Given the description of an element on the screen output the (x, y) to click on. 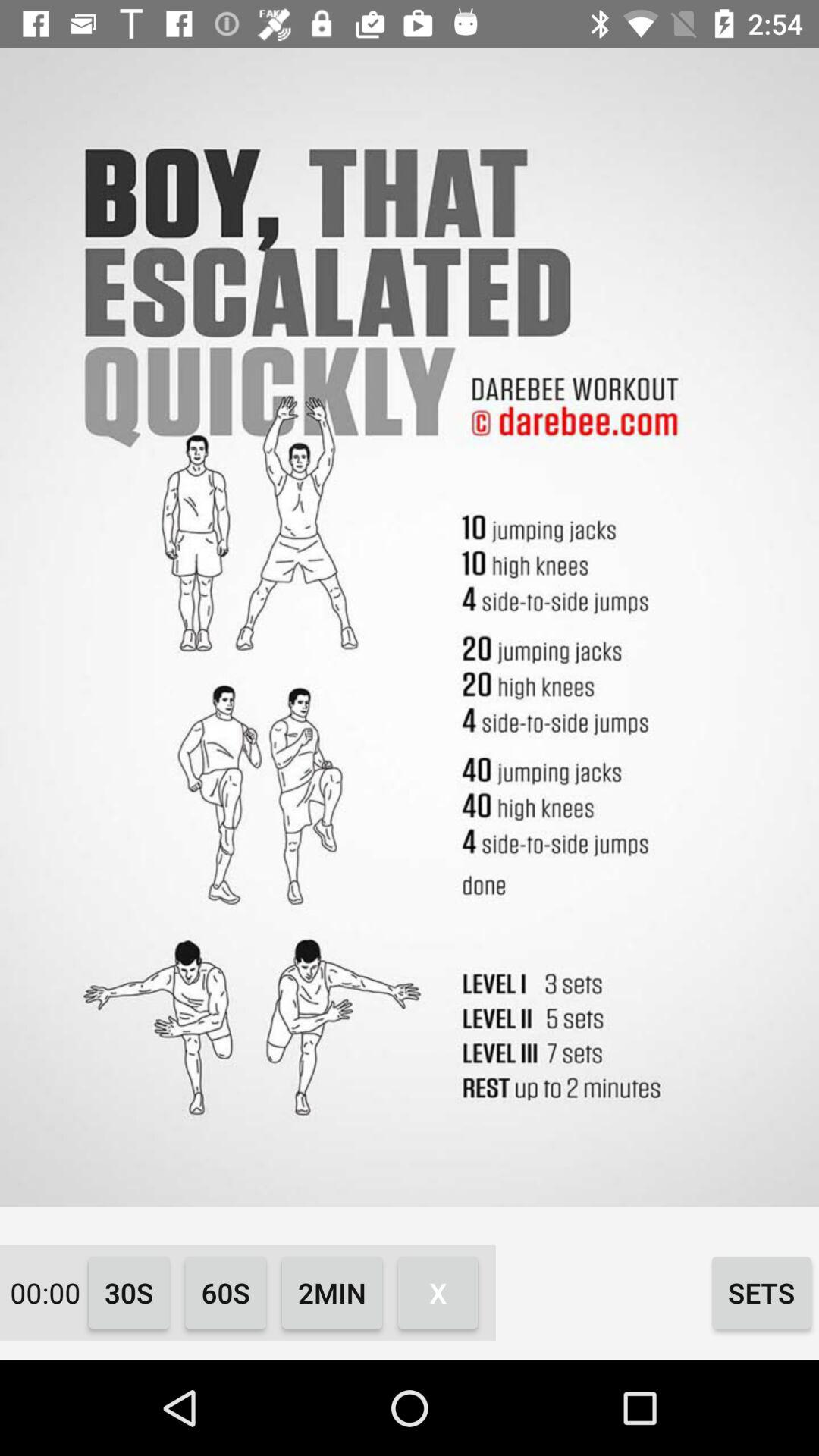
tap x (437, 1292)
